Given the description of an element on the screen output the (x, y) to click on. 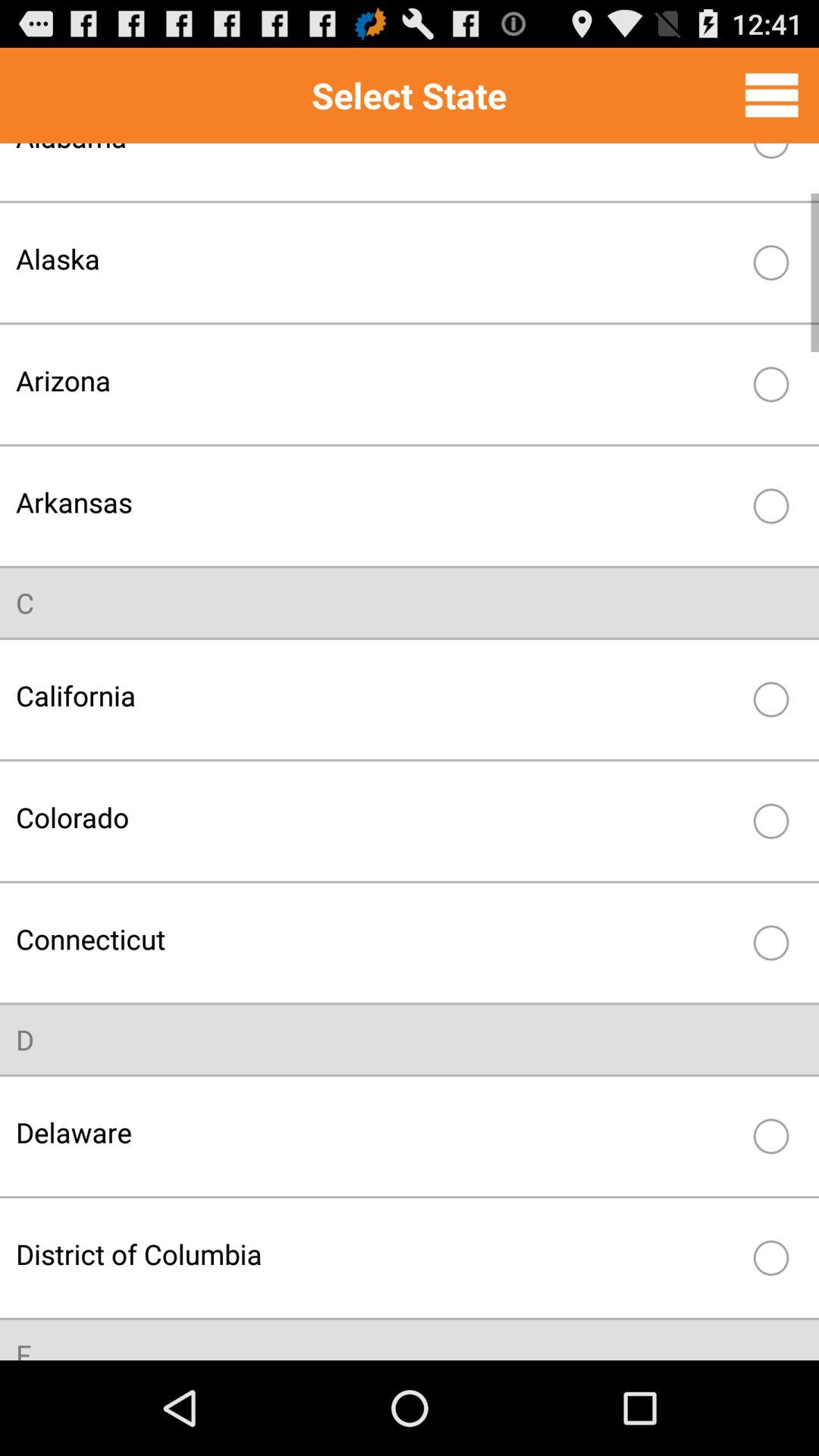
choose the alabama (377, 159)
